Given the description of an element on the screen output the (x, y) to click on. 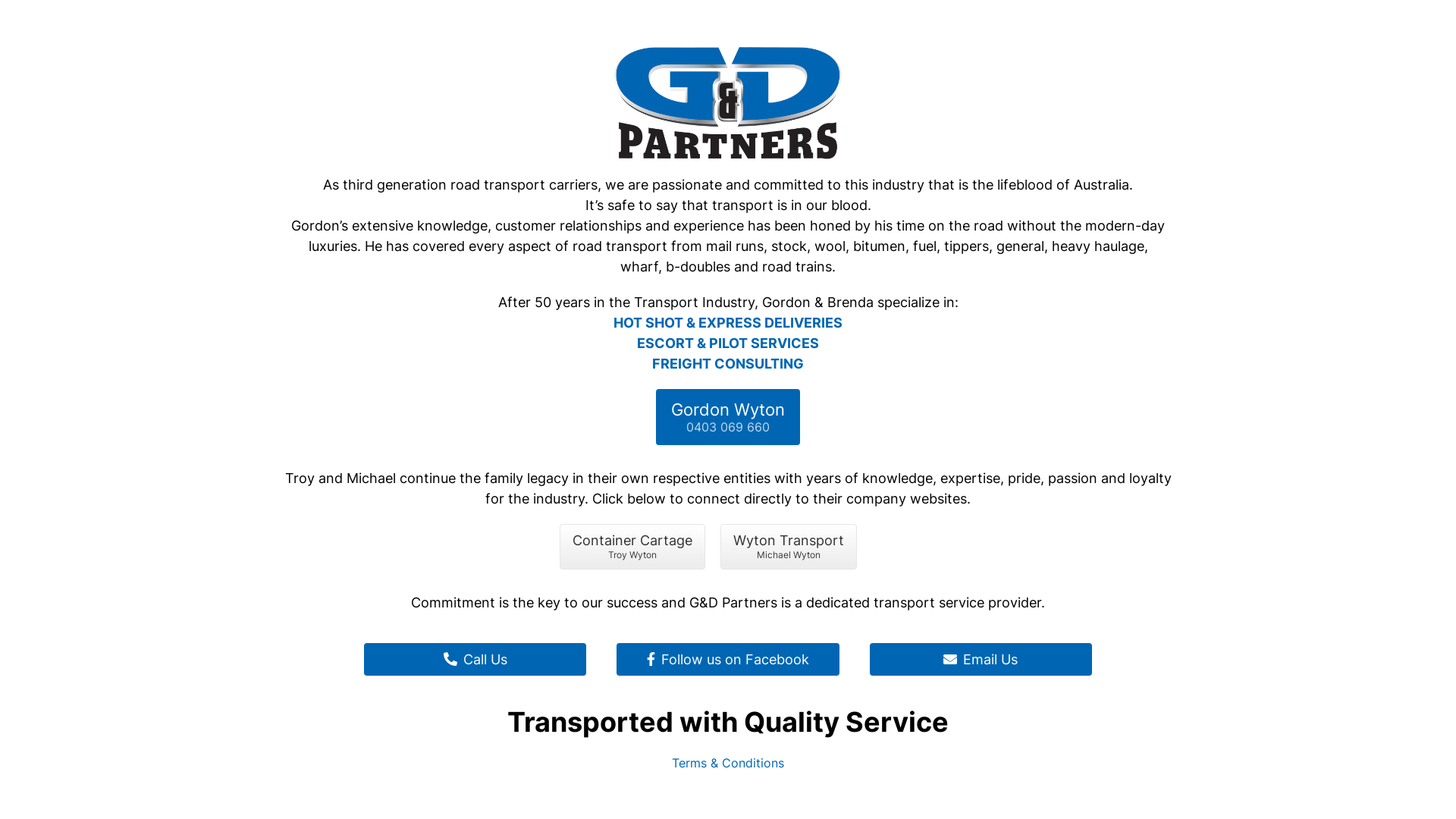
Follow us on Facebook Element type: text (727, 659)
Email Us Element type: text (980, 659)
Gordon Wyton
0403 069 660 Element type: text (727, 417)
Terms & Conditions Element type: text (727, 762)
Container Cartage
Troy Wyton Element type: text (632, 546)
Wyton Transport
Michael Wyton Element type: text (788, 546)
Call Us Element type: text (475, 659)
